Given the description of an element on the screen output the (x, y) to click on. 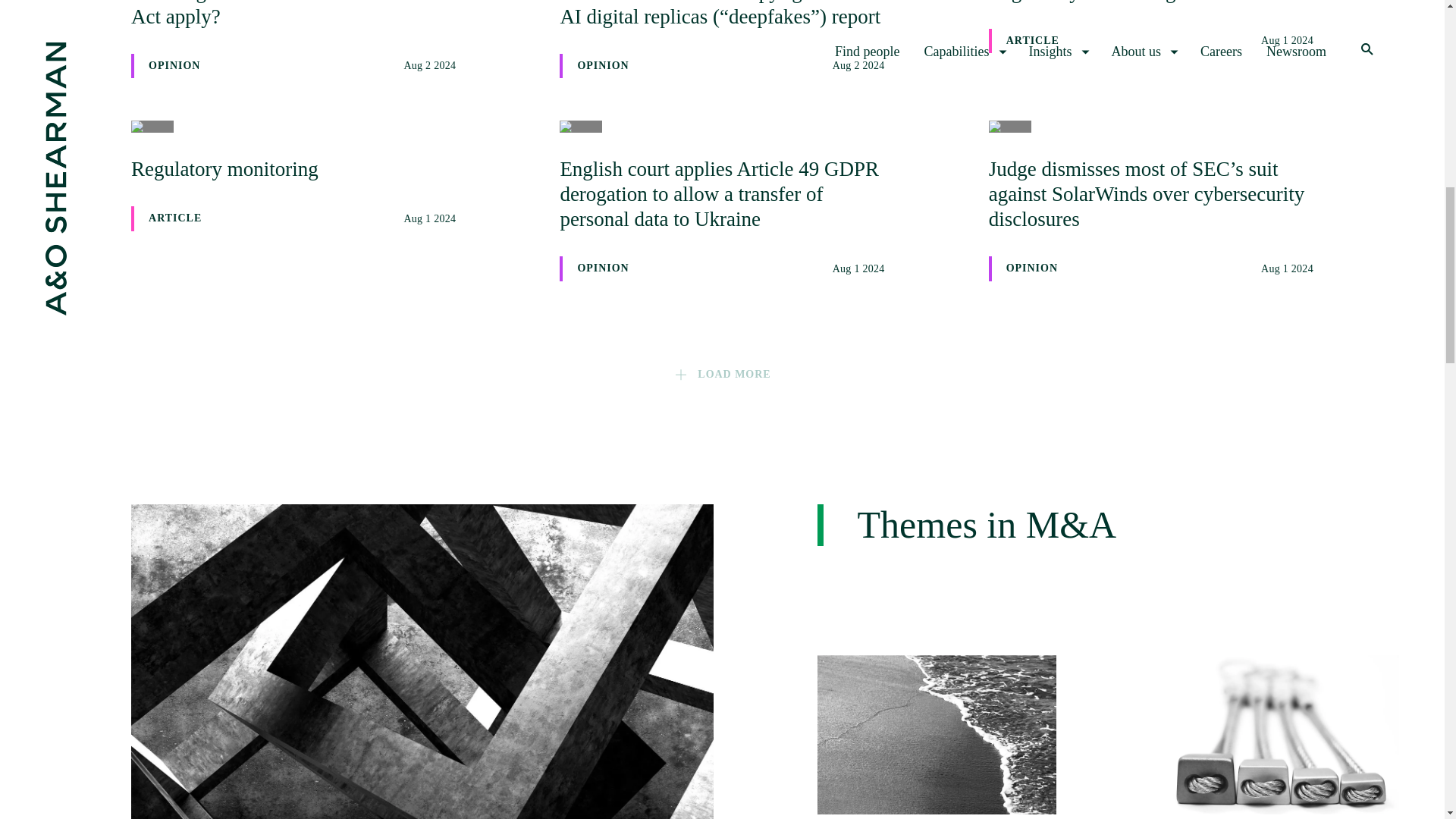
LOAD MORE (1150, 27)
